Given the description of an element on the screen output the (x, y) to click on. 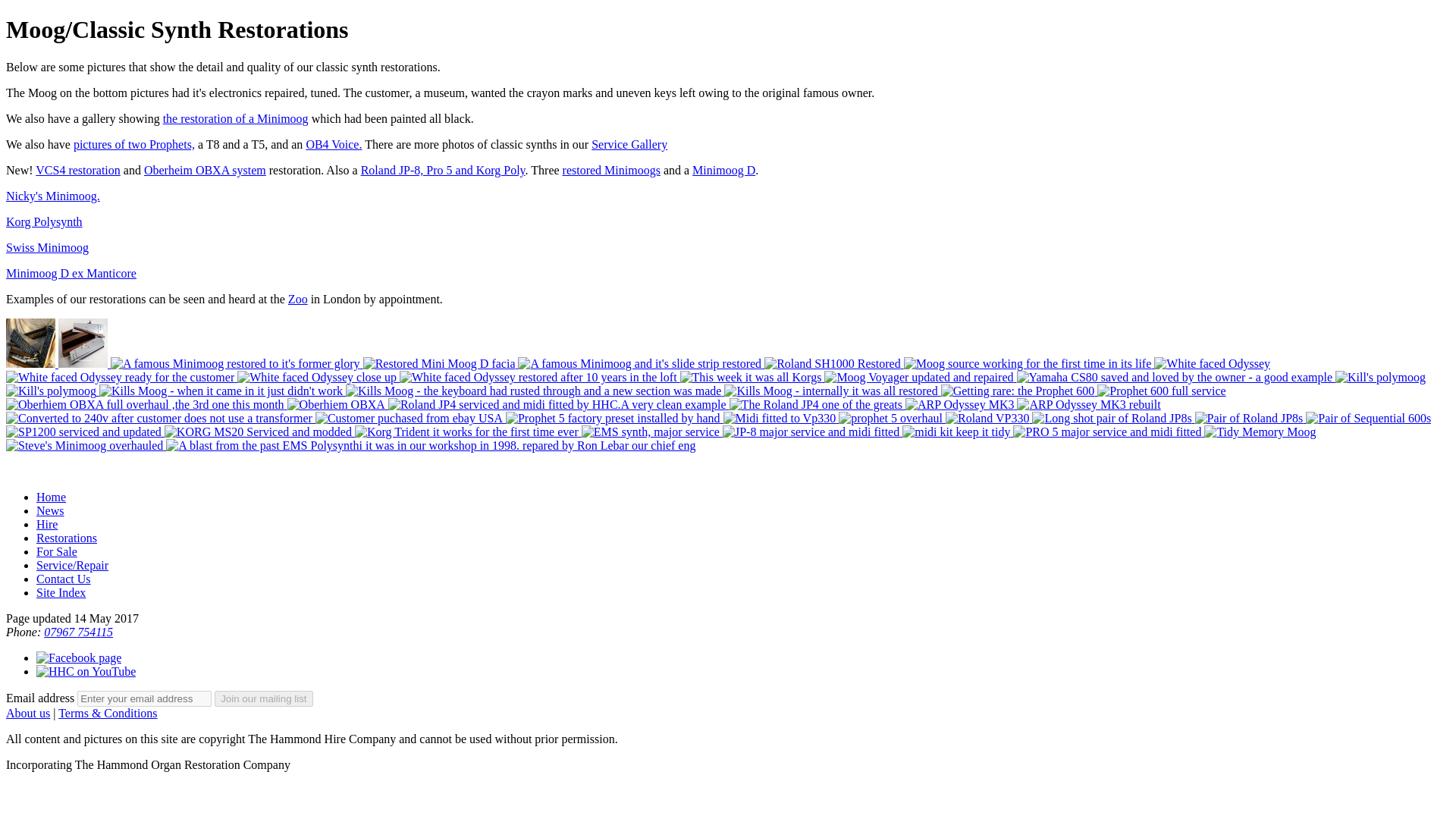
White faced Odyssey ready for the customer (121, 377)
Roland JP-8, Pro 5 and Korg Poly (443, 169)
Kills Moog - when it came in it just didn't work (222, 390)
VCS4 restoration (77, 169)
White faced Odyssey restored after 10 years in the loft (538, 377)
Yamaha CS80 saved and loved by the owner - a good example (1175, 377)
A famous Minimoog restored to it's former glory (236, 363)
Getting rare: the Prophet 600 (1018, 390)
Kill's polymoog (1380, 377)
restored Minimoogs (611, 169)
